Given the description of an element on the screen output the (x, y) to click on. 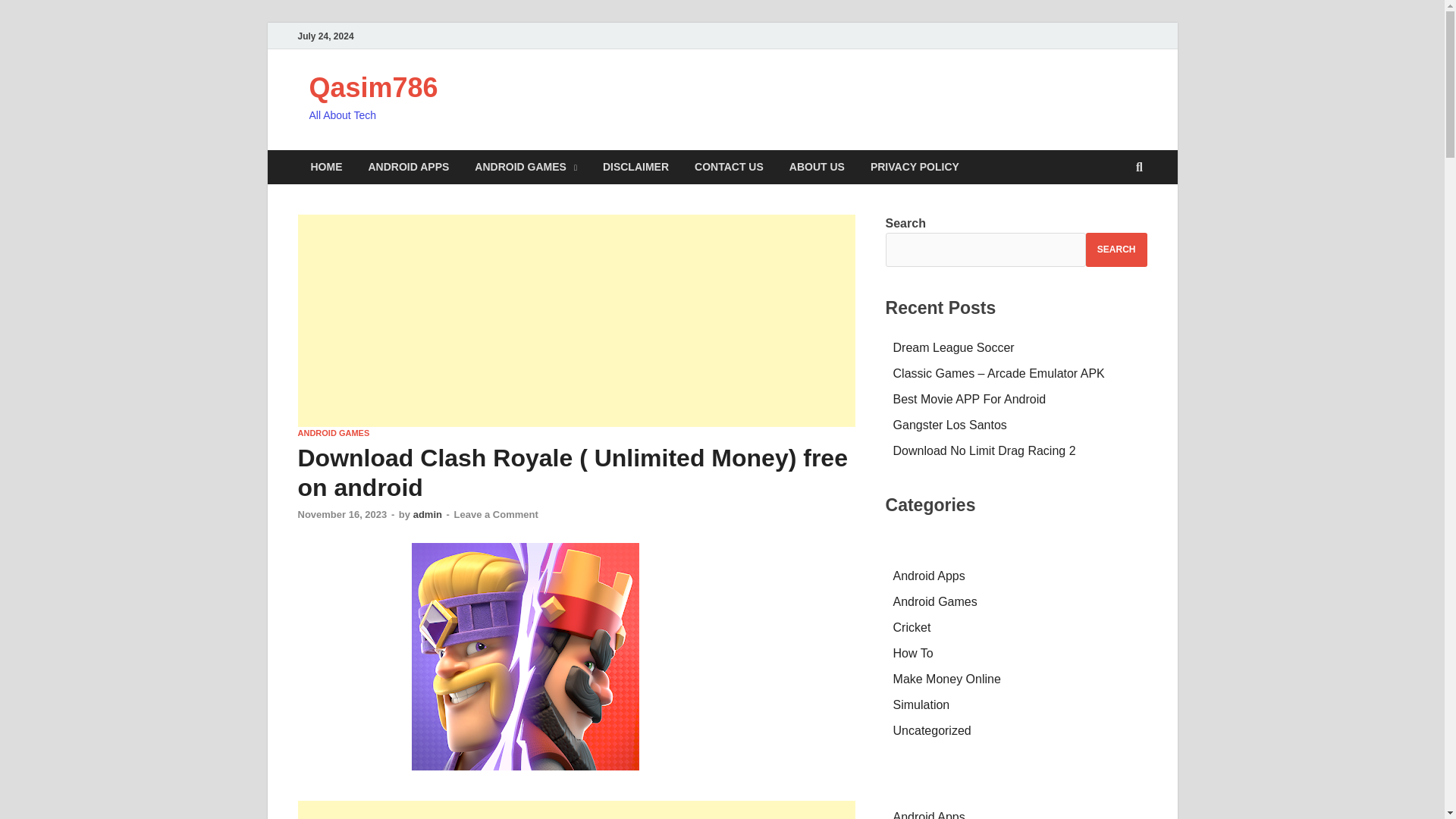
November 16, 2023 (342, 514)
Advertisement (575, 320)
HOME (326, 166)
PRIVACY POLICY (914, 166)
Leave a Comment (496, 514)
Qasim786 (373, 87)
ANDROID GAMES (333, 432)
CONTACT US (728, 166)
ANDROID APPS (408, 166)
Advertisement (575, 809)
DISCLAIMER (635, 166)
admin (427, 514)
SEARCH (1116, 249)
ANDROID GAMES (525, 166)
ABOUT US (816, 166)
